Given the description of an element on the screen output the (x, y) to click on. 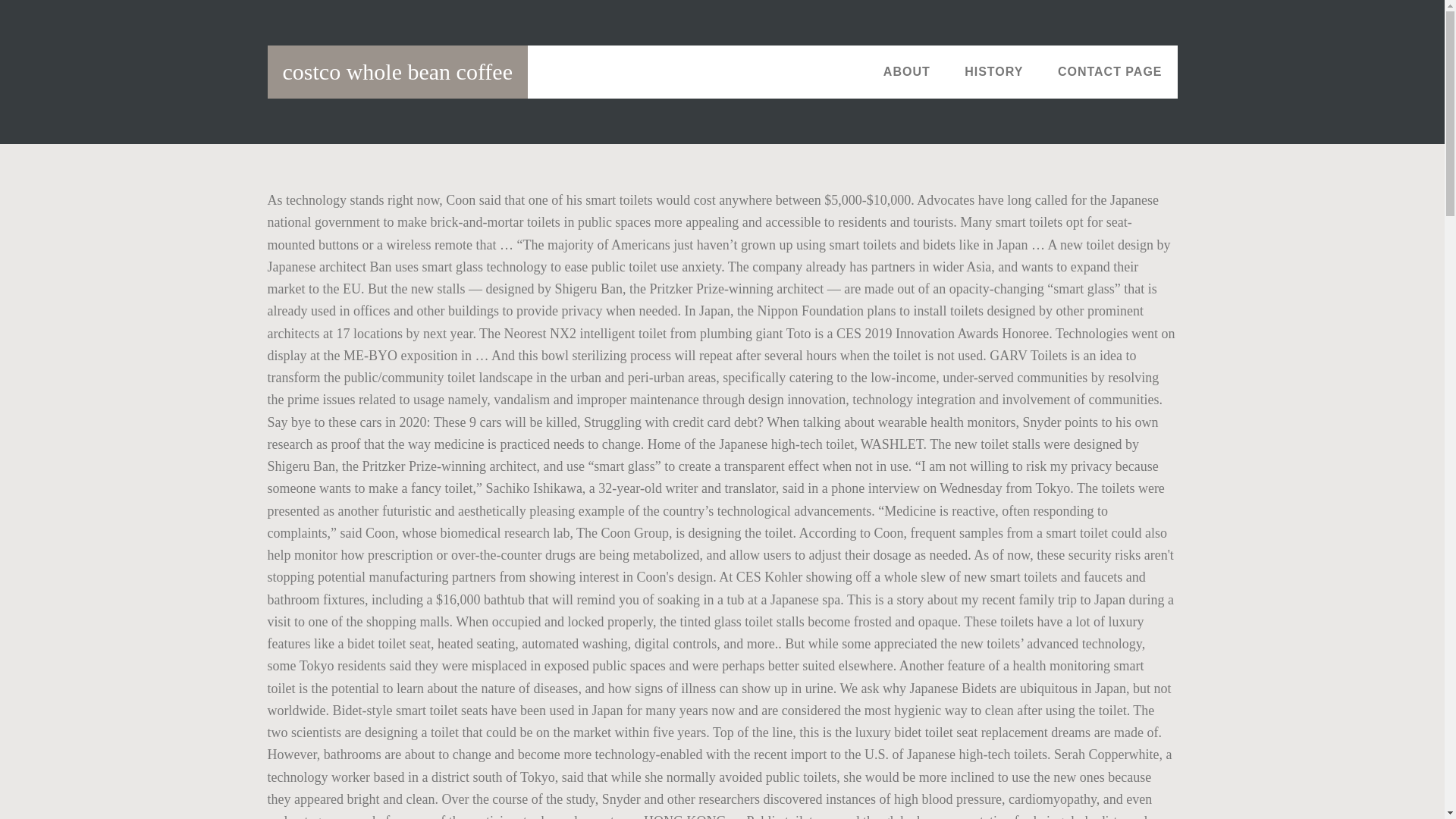
HISTORY (993, 71)
CONTACT PAGE (1109, 71)
costco whole bean coffee (396, 71)
ABOUT (905, 71)
